Given the description of an element on the screen output the (x, y) to click on. 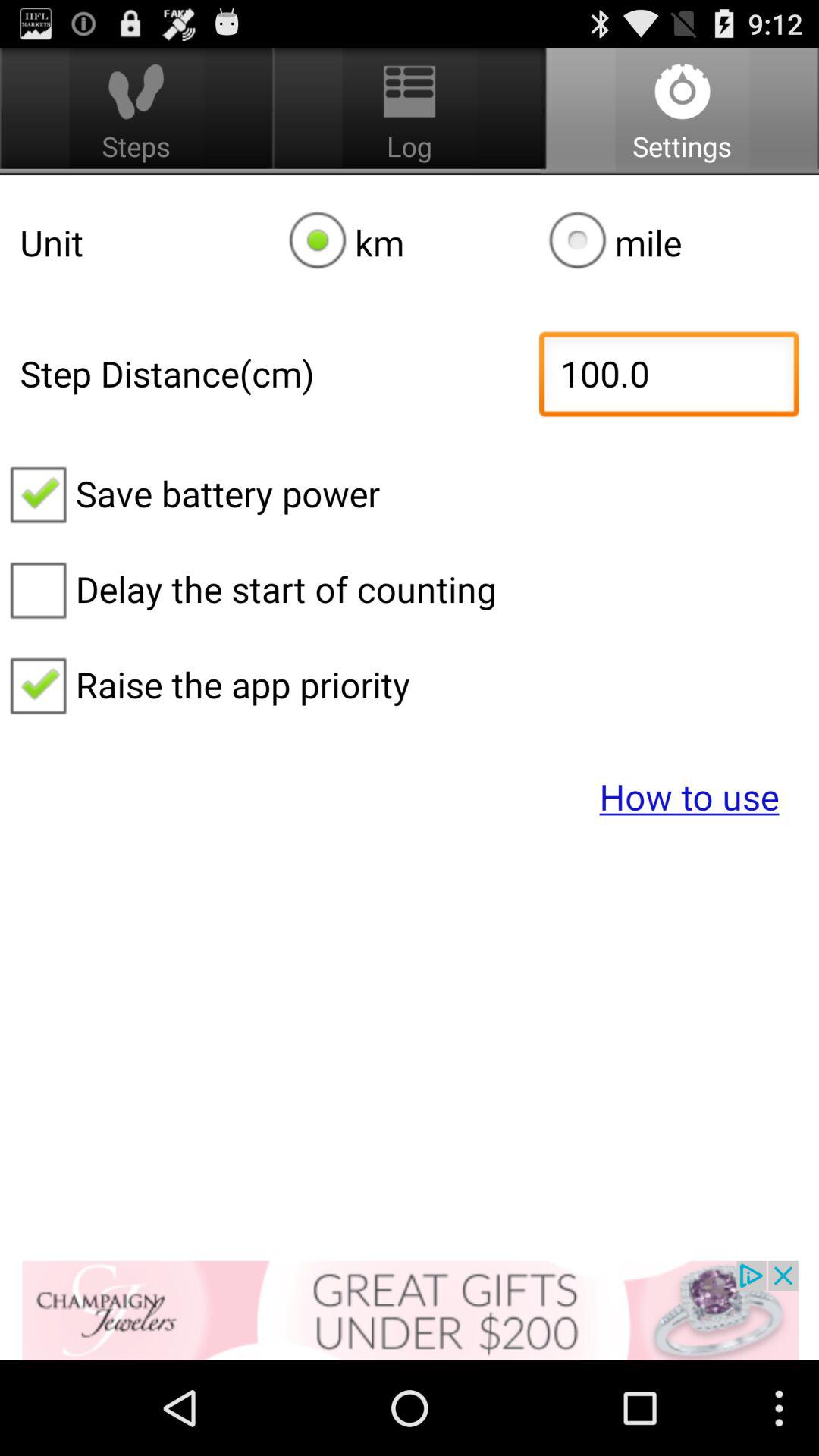
advertisement banner would take off site (409, 1310)
